Given the description of an element on the screen output the (x, y) to click on. 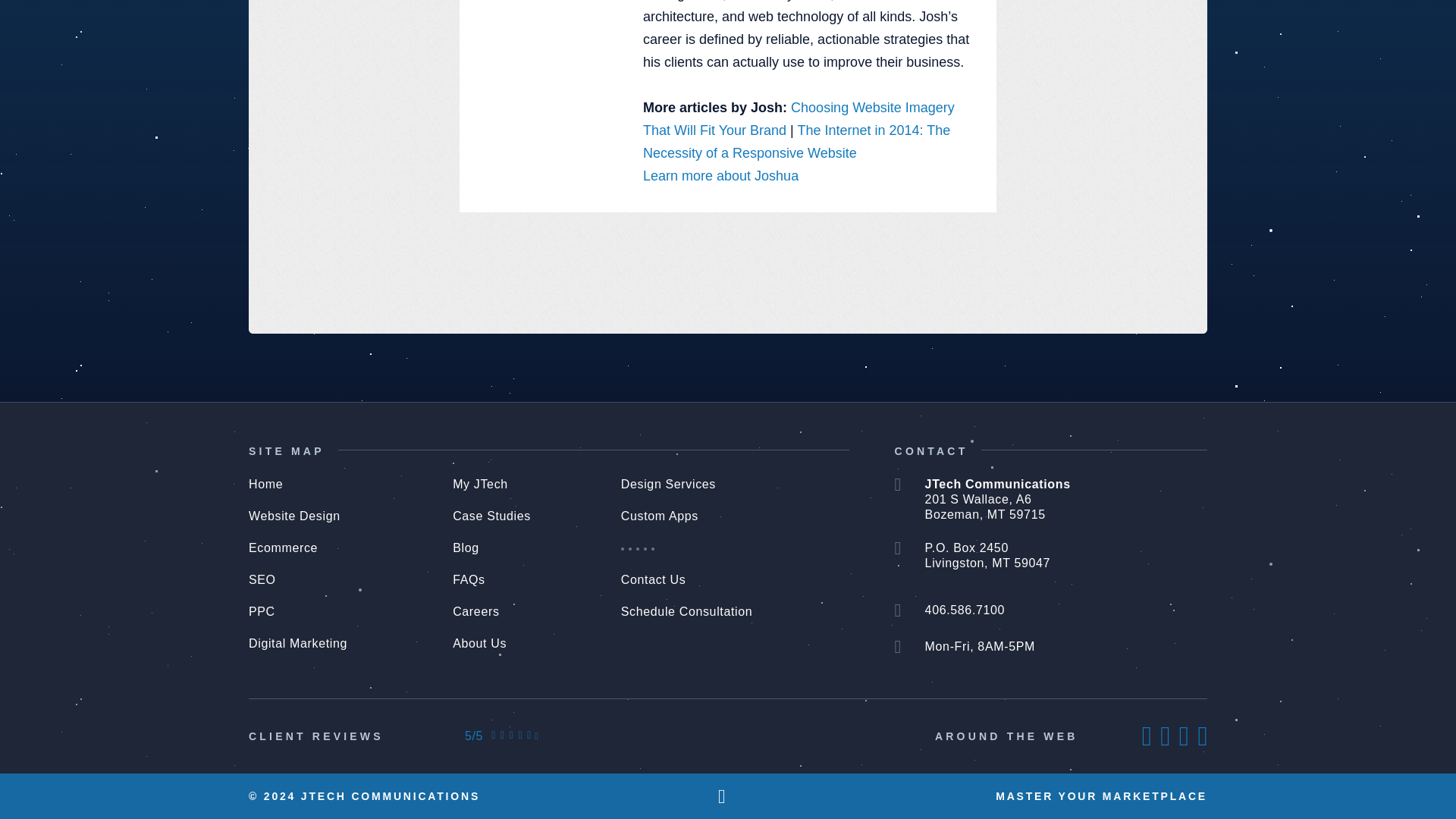
PPC (261, 611)
Digital Marketing (297, 643)
My JTech (480, 484)
Learn more about Joshua (720, 175)
Case Studies (491, 516)
Home (265, 484)
Ecommerce (282, 548)
SEO (262, 580)
Choosing Website Imagery That Will Fit Your Brand (799, 118)
Website Design (294, 516)
